Given the description of an element on the screen output the (x, y) to click on. 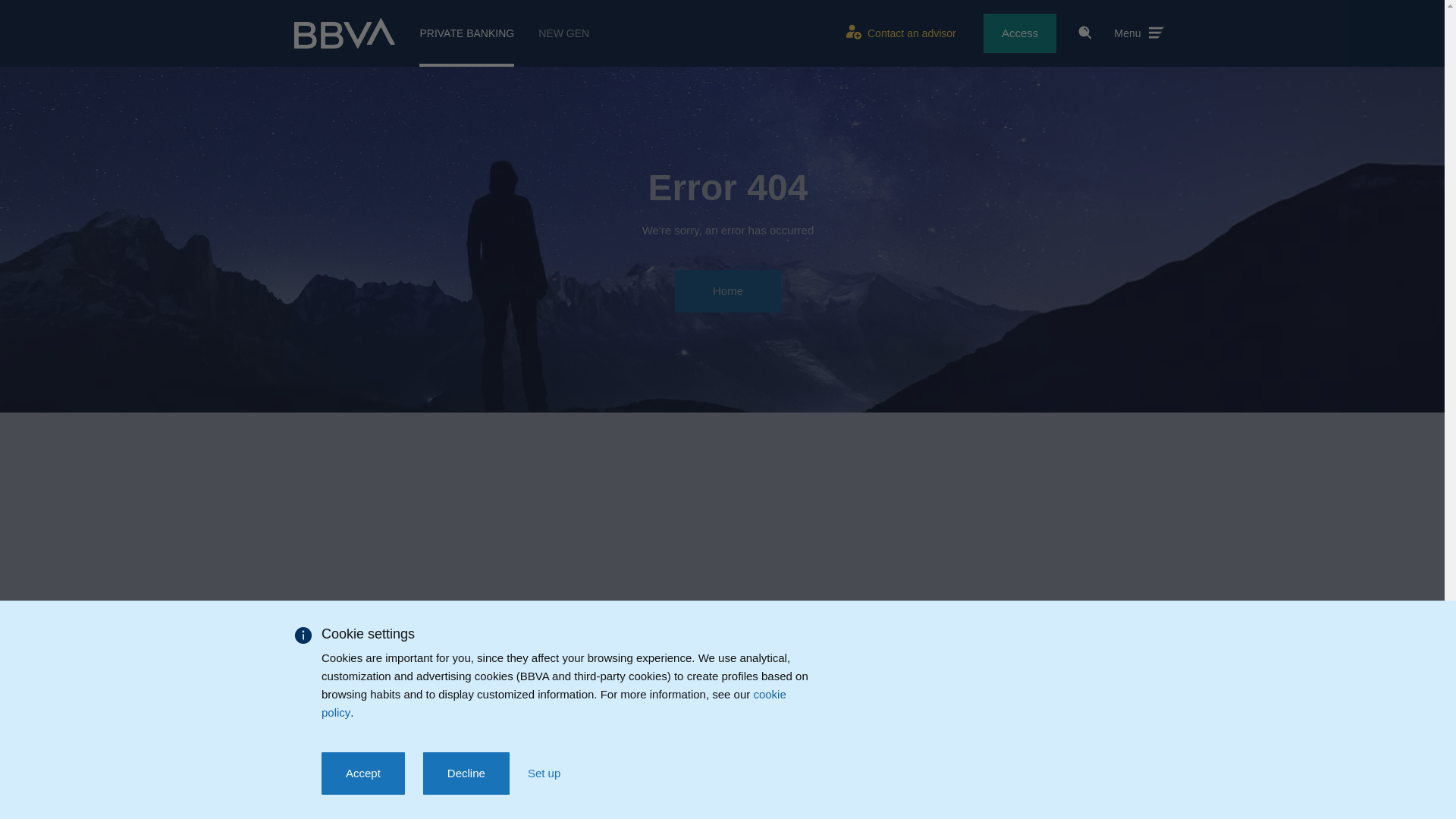
Set up (543, 773)
Home (727, 291)
BBVA logo (344, 33)
PRIVATE BANKING (466, 33)
Contact an advisor (898, 33)
Fo to online banking (1020, 33)
Access (1020, 33)
See cookie policy. (553, 703)
Decline (466, 773)
cookie policy (553, 703)
Contact a private banking advisor   (898, 33)
Accept (362, 773)
Search engine (1085, 32)
